Given the description of an element on the screen output the (x, y) to click on. 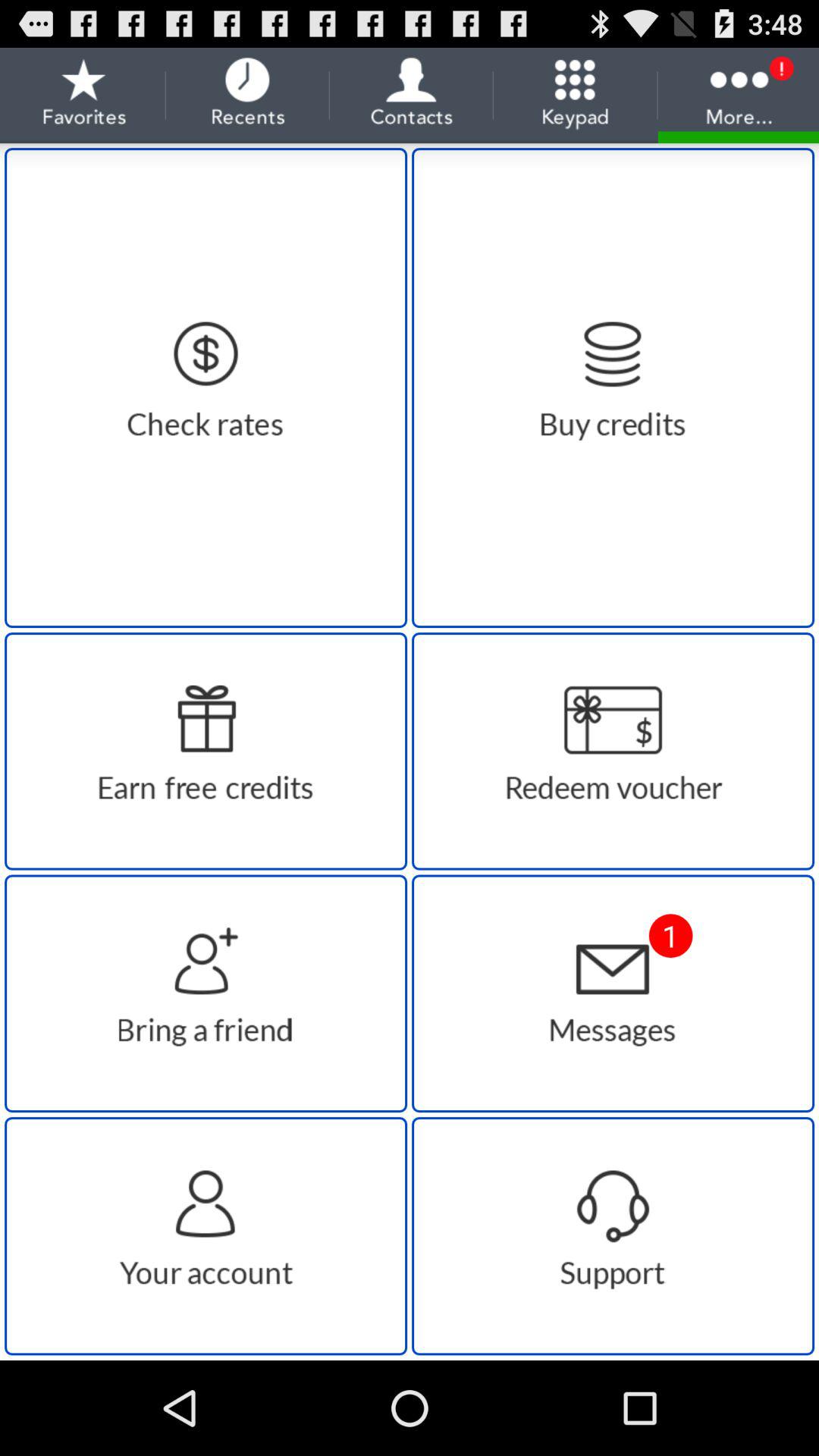
switch contacts option (205, 1236)
